Given the description of an element on the screen output the (x, y) to click on. 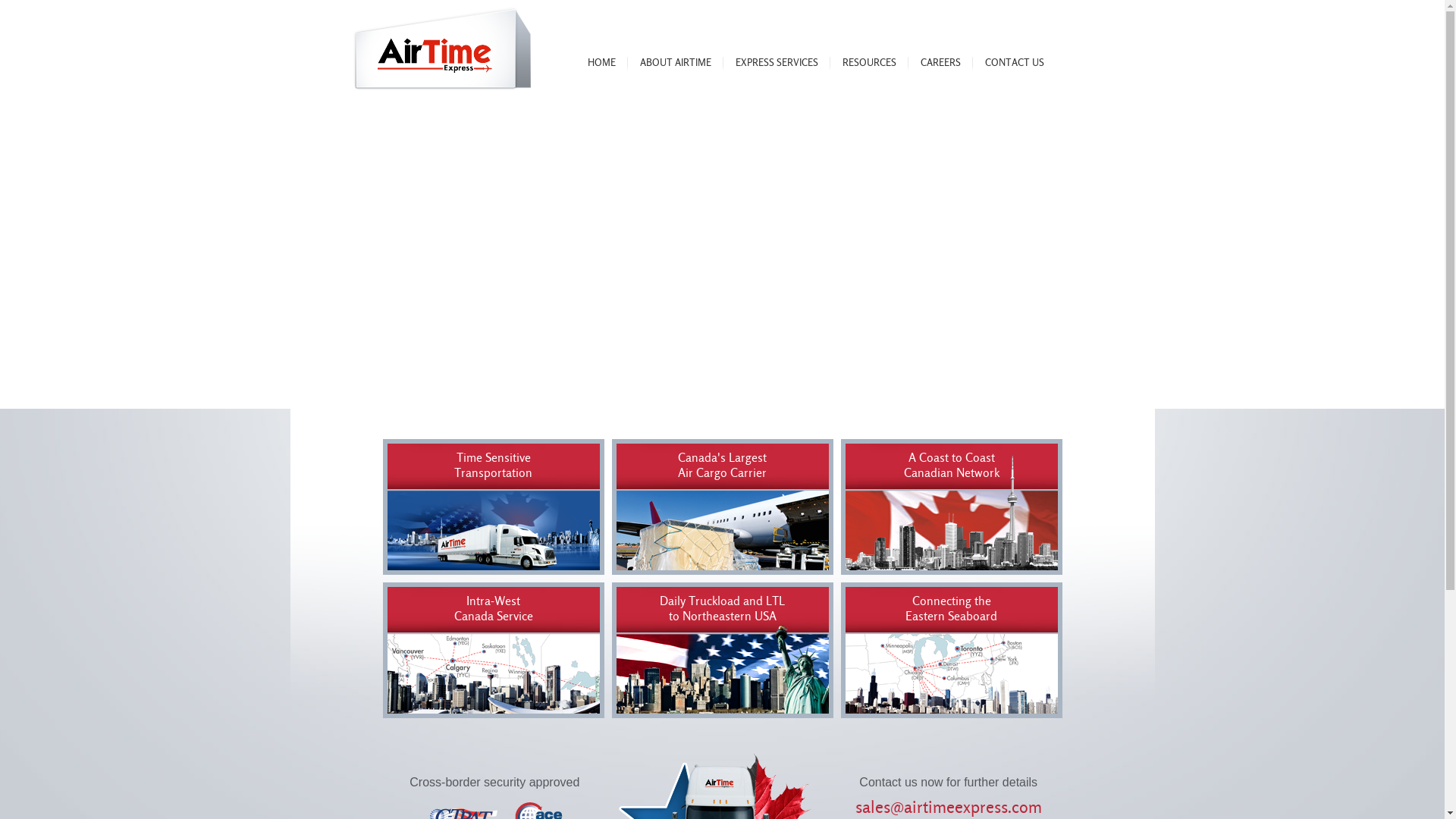
HOME Element type: text (600, 65)
CONTACT US Element type: text (1013, 65)
EXPRESS SERVICES Element type: text (776, 65)
RESOURCES Element type: text (868, 65)
ABOUT AIRTIME Element type: text (675, 65)
CAREERS Element type: text (940, 65)
sales@airtimeexpress.com Element type: text (948, 802)
